Given the description of an element on the screen output the (x, y) to click on. 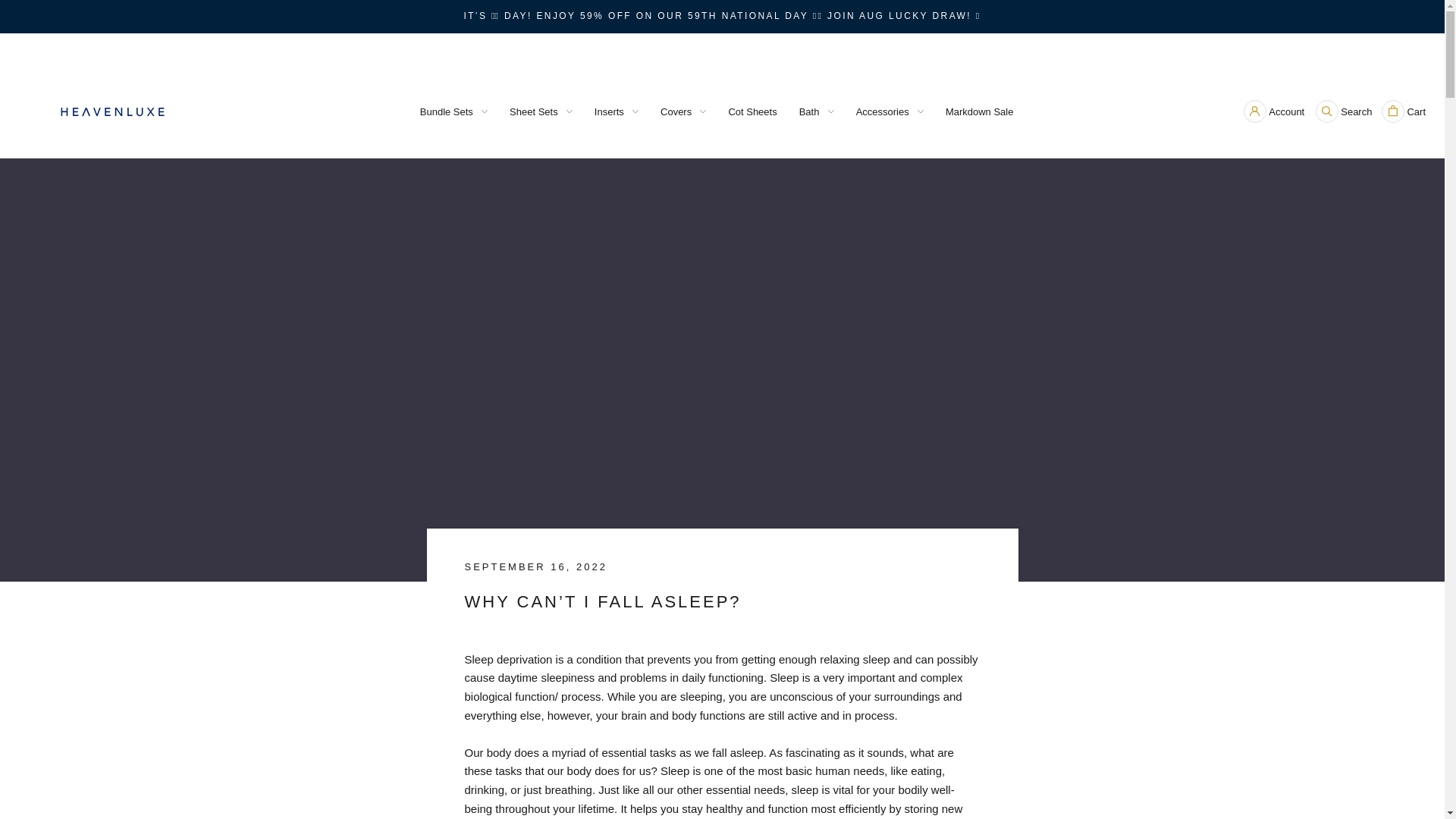
Covers (676, 111)
Sheet Sets (533, 111)
Bundle Sets (446, 111)
Inserts (609, 111)
